Given the description of an element on the screen output the (x, y) to click on. 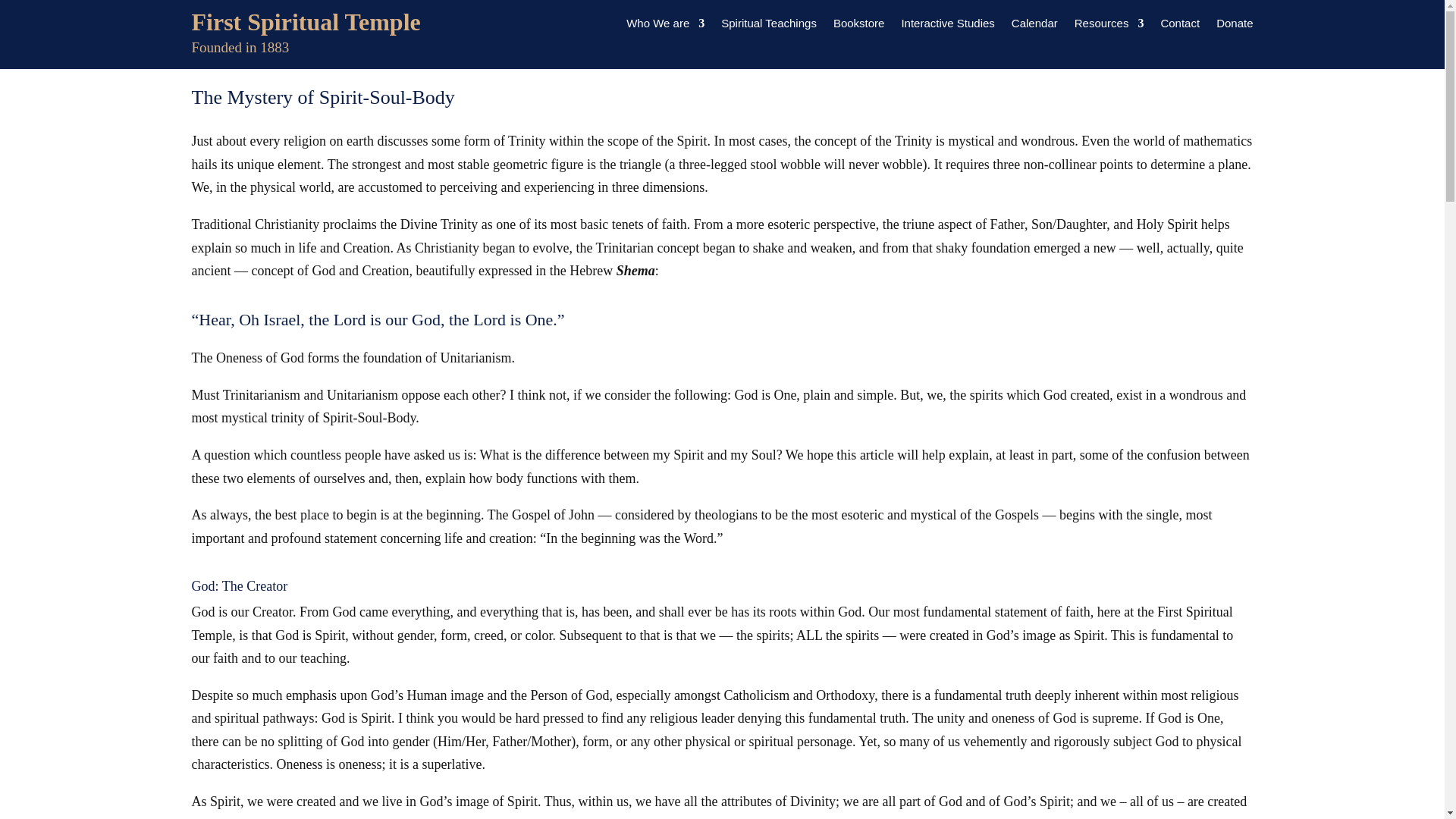
Spiritual Teachings (768, 26)
Bookstore (858, 26)
Who We are (665, 26)
